Given the description of an element on the screen output the (x, y) to click on. 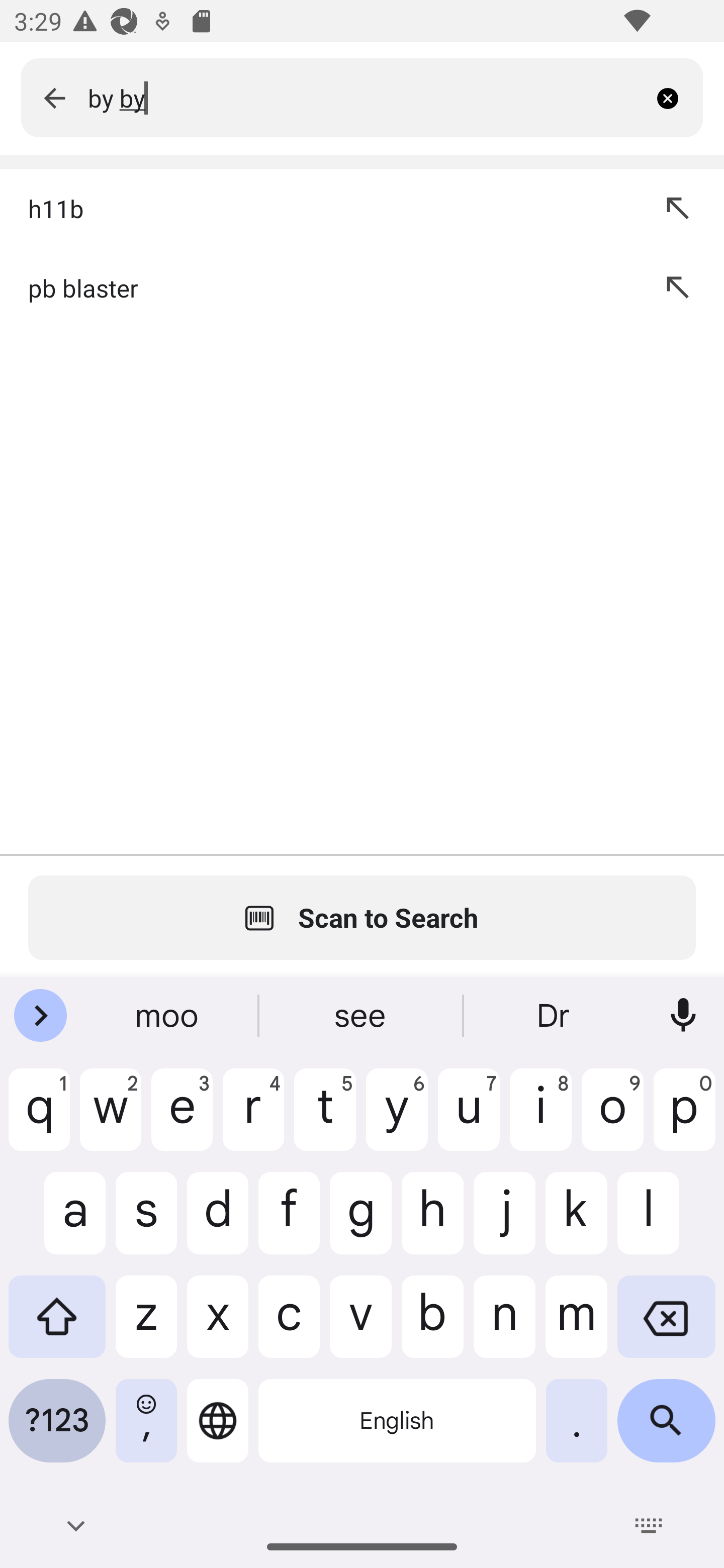
 (54, 97)
by by Text input field (367, 97)
Clear search bar text  (674, 97)
h11b (322, 208)
pb blaster (322, 287)
